Given the description of an element on the screen output the (x, y) to click on. 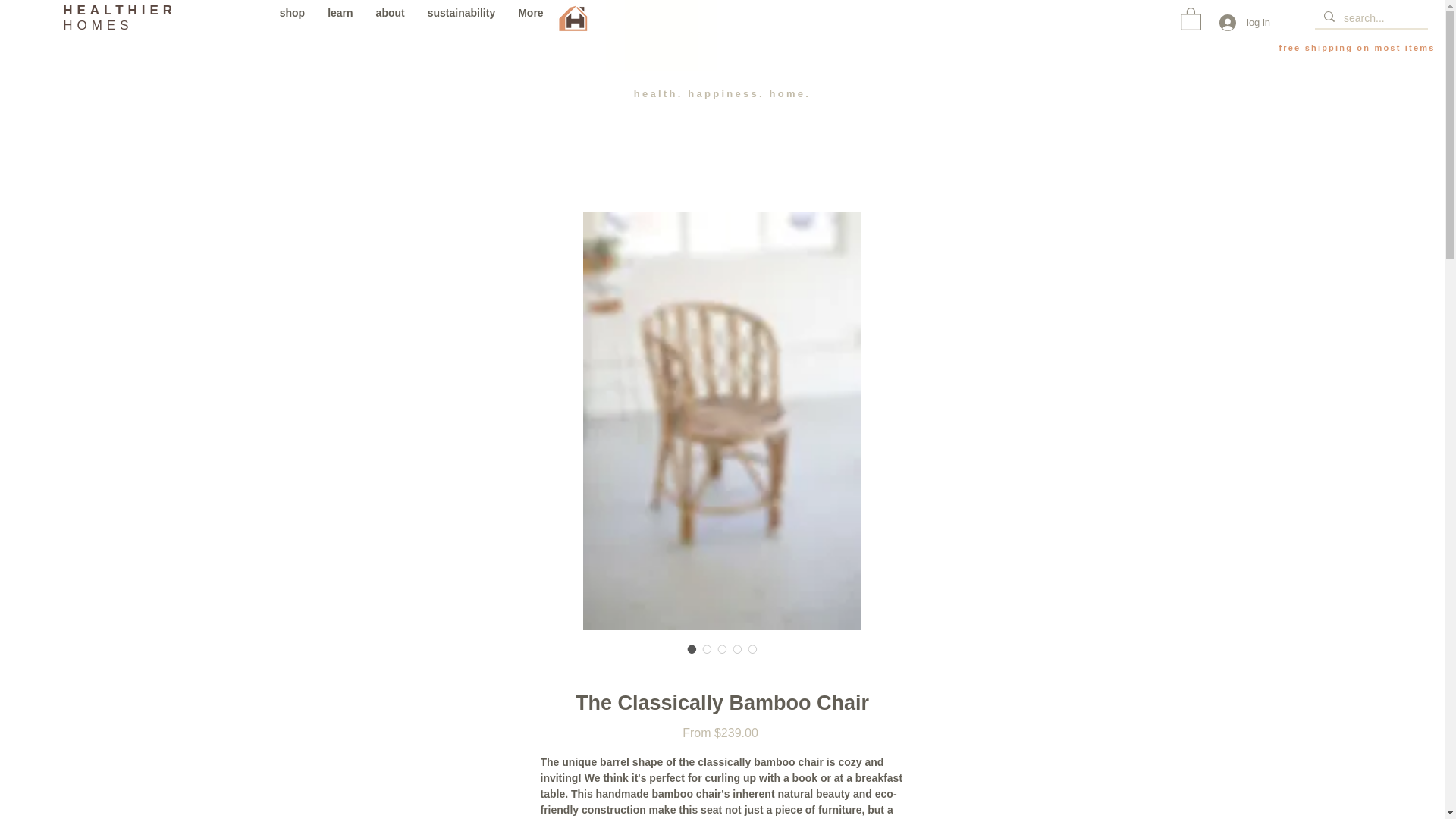
learn (339, 16)
sustainability (461, 16)
shop (291, 16)
log in (119, 17)
about (1239, 22)
